Given the description of an element on the screen output the (x, y) to click on. 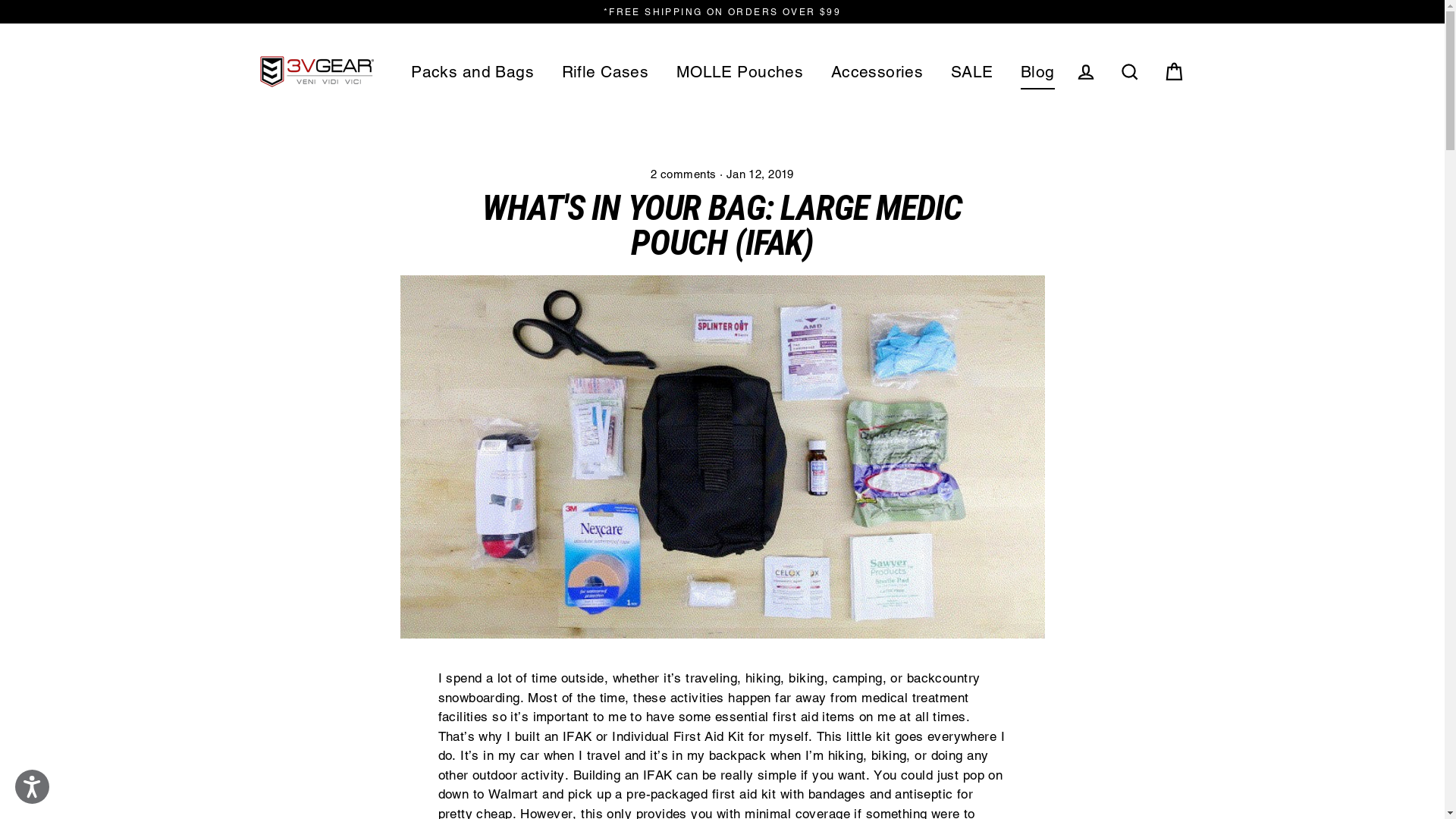
Log in Element type: text (1085, 71)
SALE Element type: text (971, 71)
Accessories Element type: text (877, 71)
Packs and Bags Element type: text (472, 71)
2 comments Element type: text (684, 173)
Blog Element type: text (1037, 71)
Skip to content Element type: text (0, 0)
Rifle Cases Element type: text (605, 71)
Search Element type: text (1129, 71)
Cart Element type: text (1173, 71)
MOLLE Pouches Element type: text (740, 71)
